Given the description of an element on the screen output the (x, y) to click on. 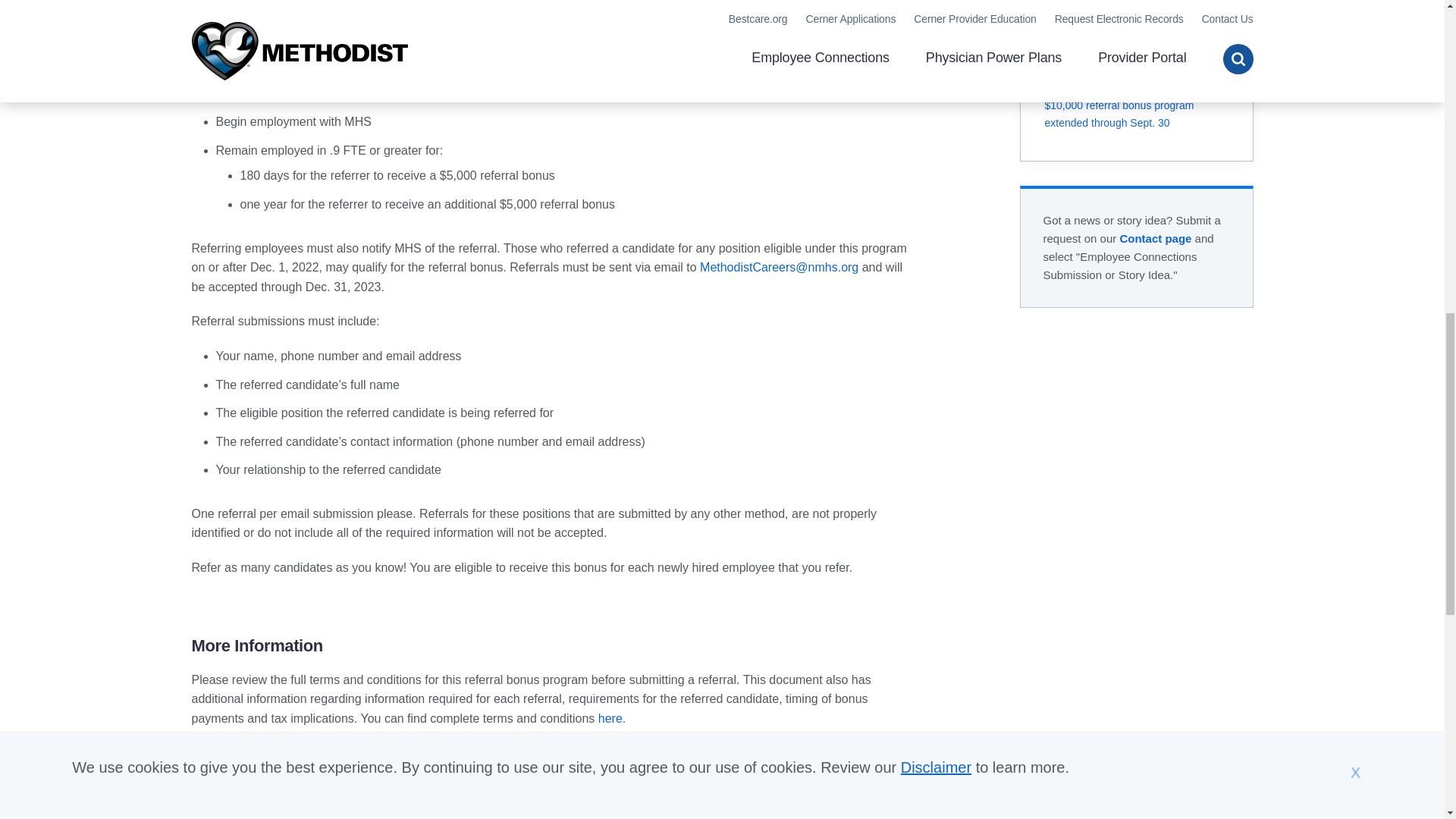
here (610, 717)
Contact Us (1155, 237)
Contact page (1155, 237)
